Given the description of an element on the screen output the (x, y) to click on. 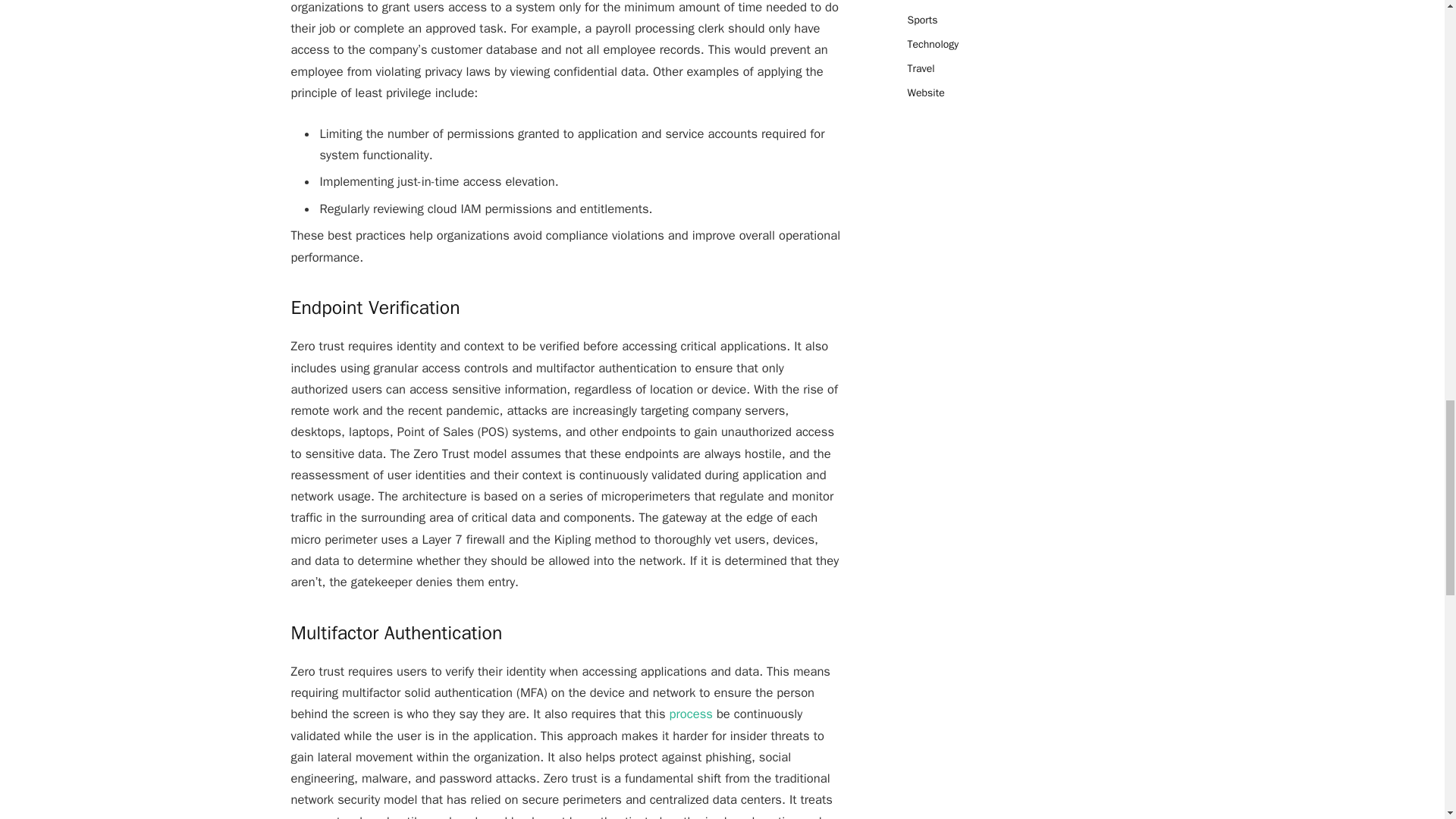
process (691, 713)
